Given the description of an element on the screen output the (x, y) to click on. 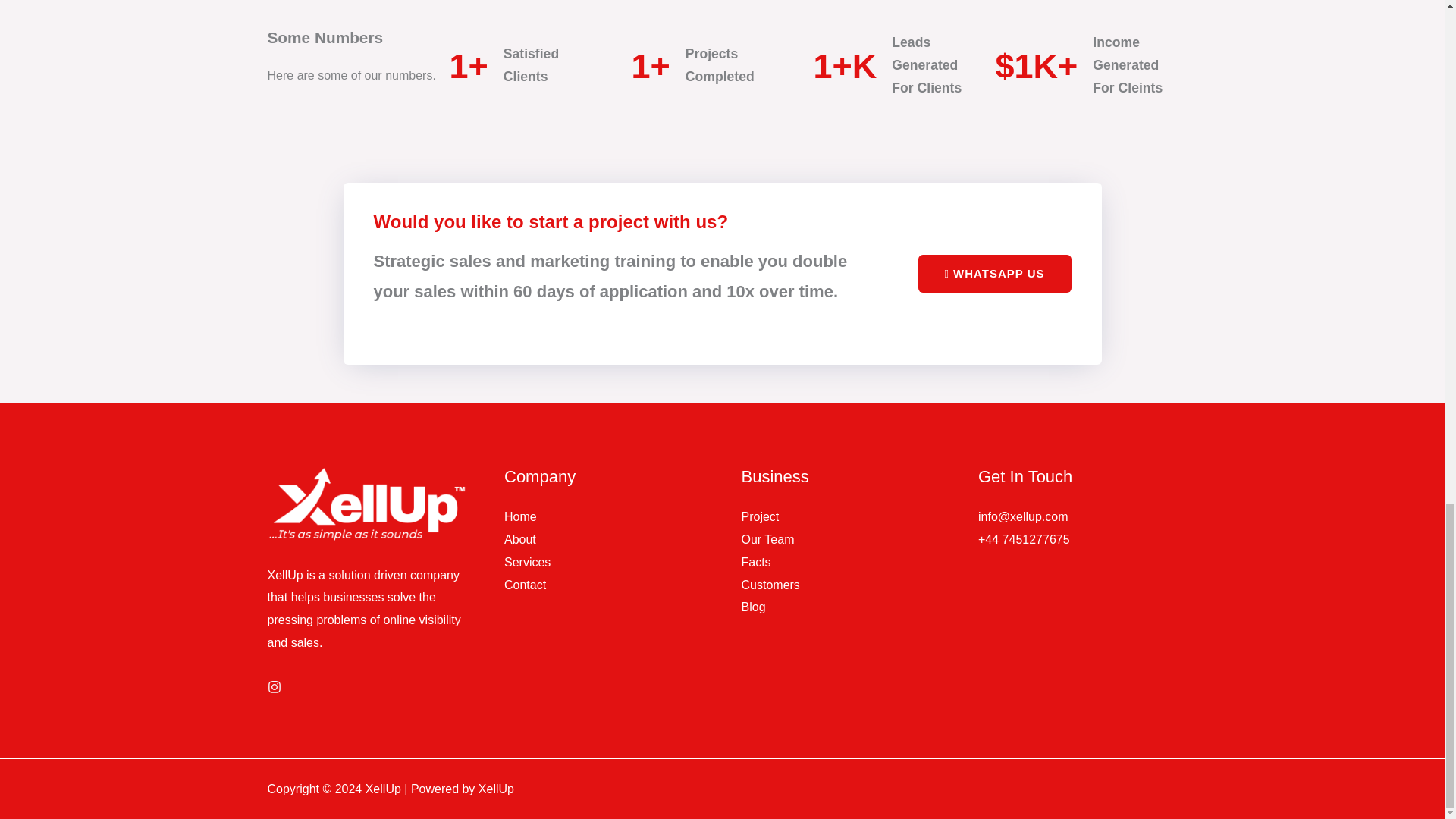
Services (526, 562)
About (519, 539)
Facts (756, 562)
Our Team (767, 539)
Customers (770, 584)
Contact (524, 584)
Project (759, 516)
Blog (753, 606)
Home (520, 516)
WHATSAPP US (994, 273)
